Given the description of an element on the screen output the (x, y) to click on. 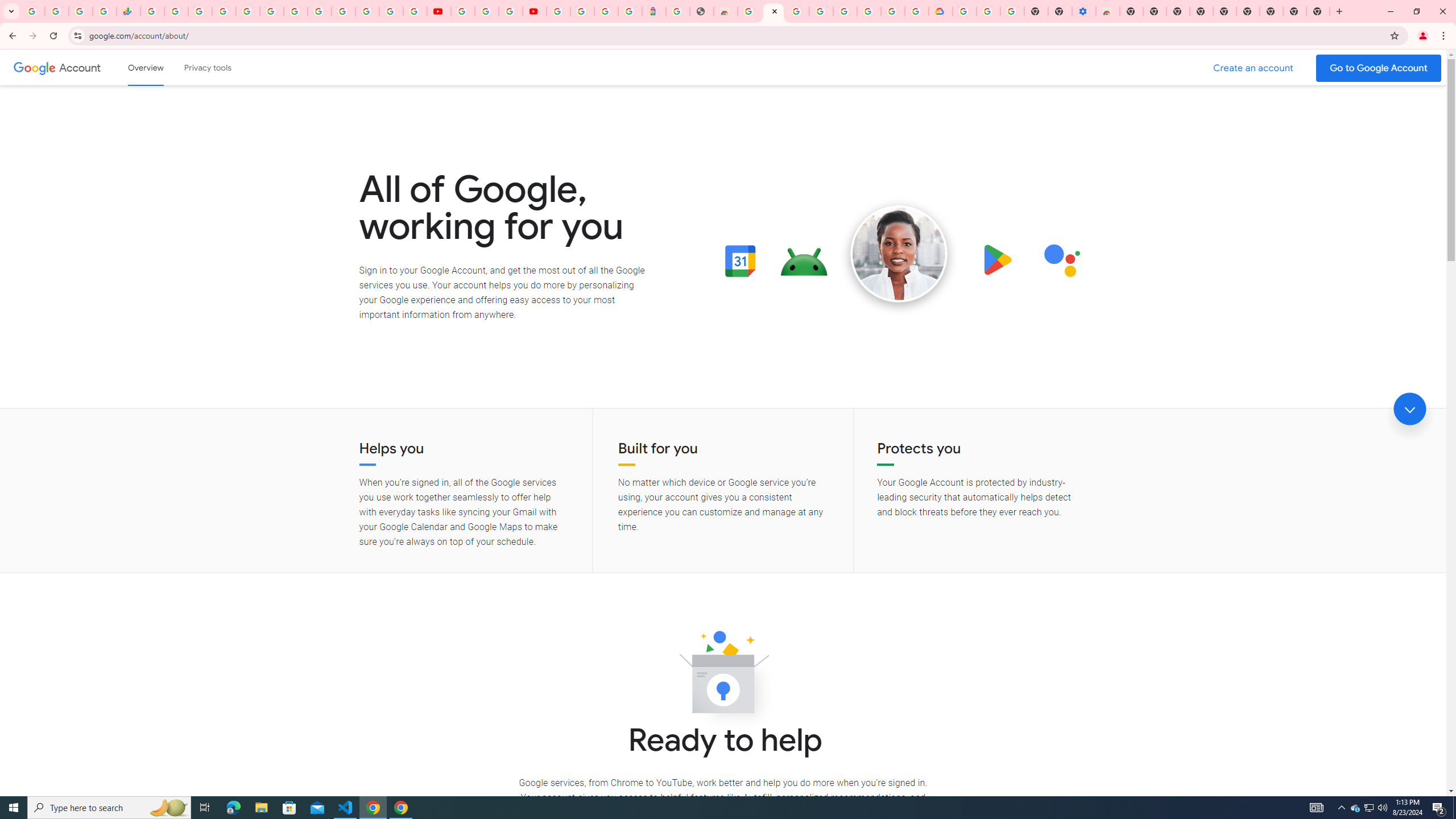
Atour Hotel - Google hotels (654, 11)
Create your Google Account (510, 11)
Sign in - Google Accounts (964, 11)
Chrome Web Store - Household (725, 11)
Google logo (34, 67)
Create your Google Account (893, 11)
Android TV Policies and Guidelines - Transparency Center (295, 11)
Ad Settings (796, 11)
